Given the description of an element on the screen output the (x, y) to click on. 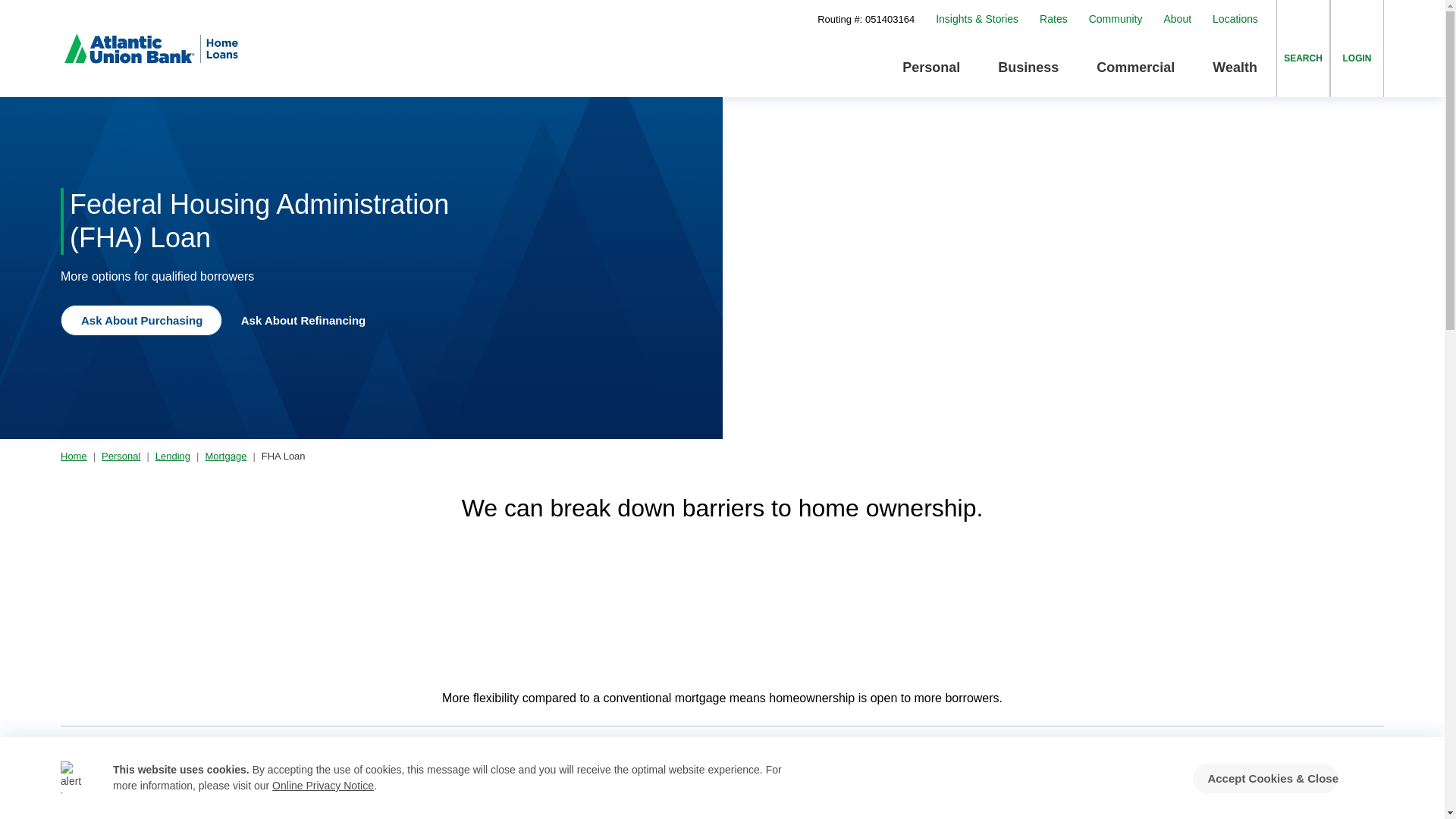
Ask About Refinancing (309, 319)
Ask About Purchasing (141, 319)
Locations (1234, 19)
About (1177, 19)
Rates (1053, 19)
Community (1115, 19)
Personal (930, 66)
